Given the description of an element on the screen output the (x, y) to click on. 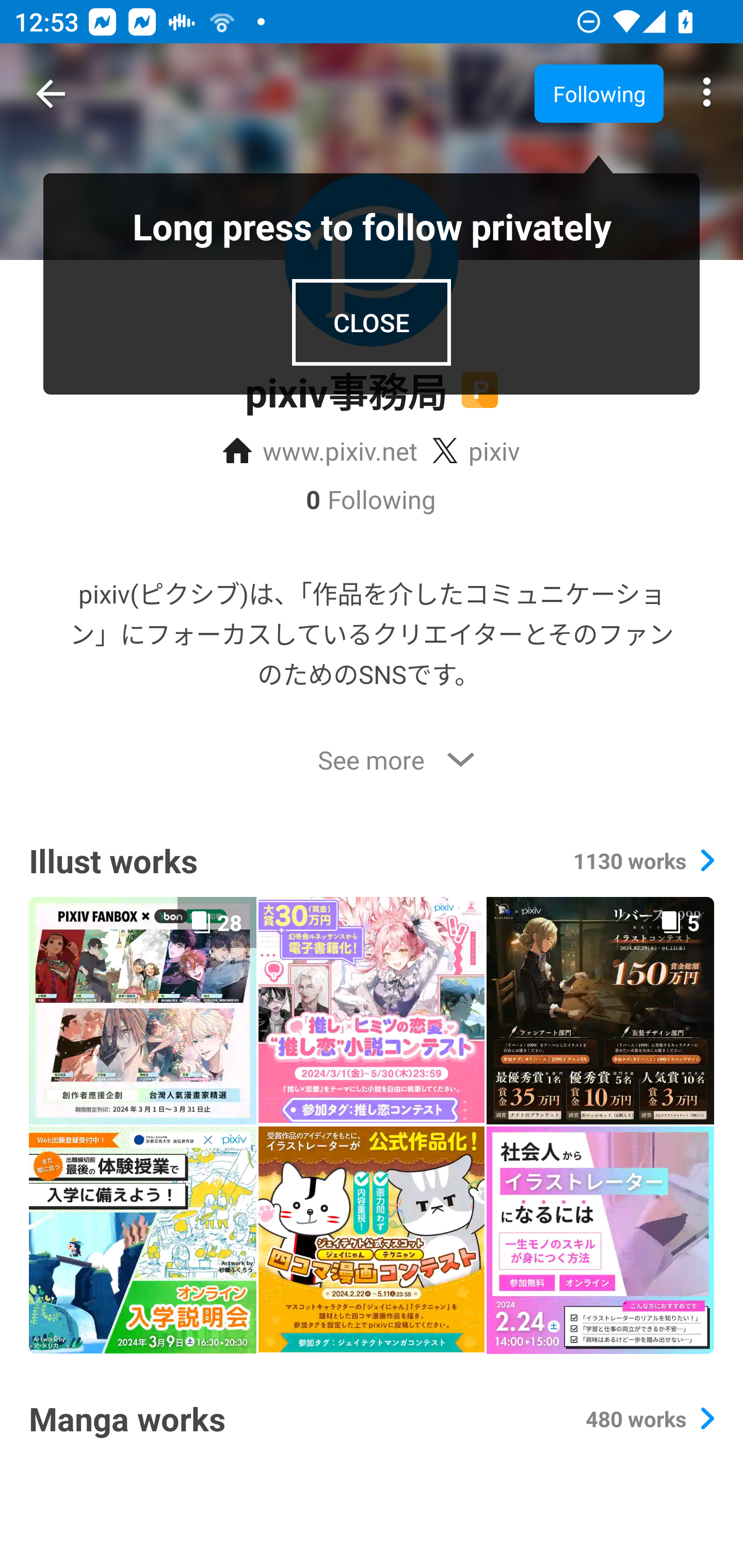
Navigate up (50, 93)
More options (706, 93)
Following (598, 93)
CLOSE (371, 322)
www.pixiv.net (319, 450)
pixiv (476, 450)
0 Following (371, 498)
See more (371, 760)
1130 works (643, 859)
28 (142, 1010)
5 (600, 1010)
480 works (649, 1418)
